Given the description of an element on the screen output the (x, y) to click on. 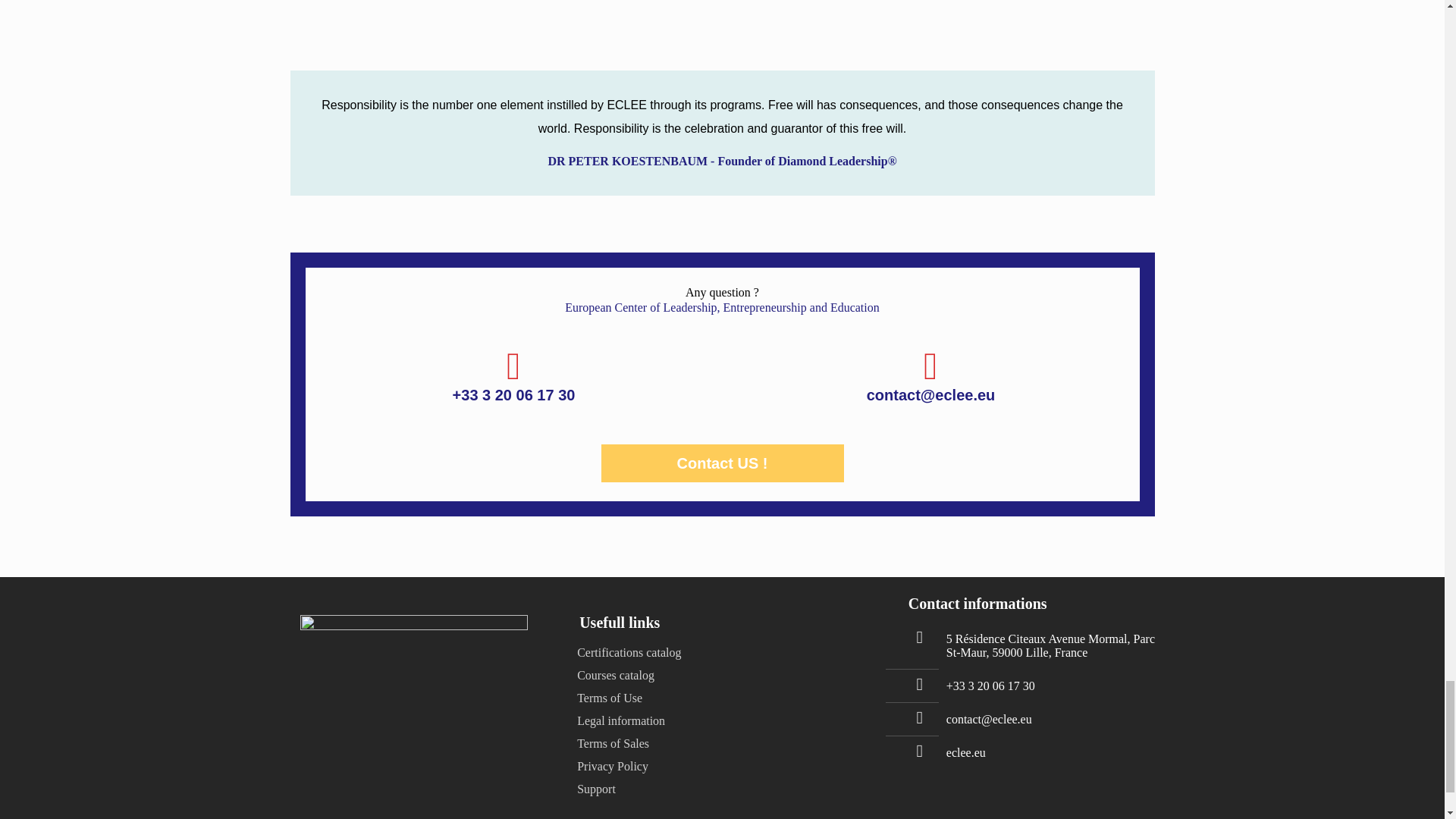
Privacy Policy (611, 766)
Contact US ! (721, 463)
Legal information (620, 720)
Support (595, 788)
Terms of Sales (612, 743)
Courses catalog (614, 675)
Terms of Use (609, 697)
Certifications catalog (628, 652)
